Given the description of an element on the screen output the (x, y) to click on. 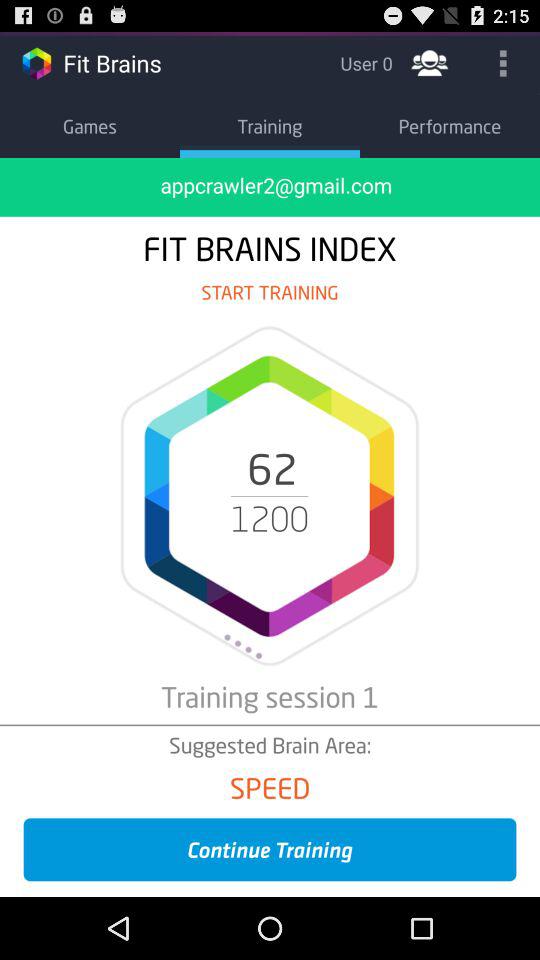
open the app next to user 0 (429, 62)
